Given the description of an element on the screen output the (x, y) to click on. 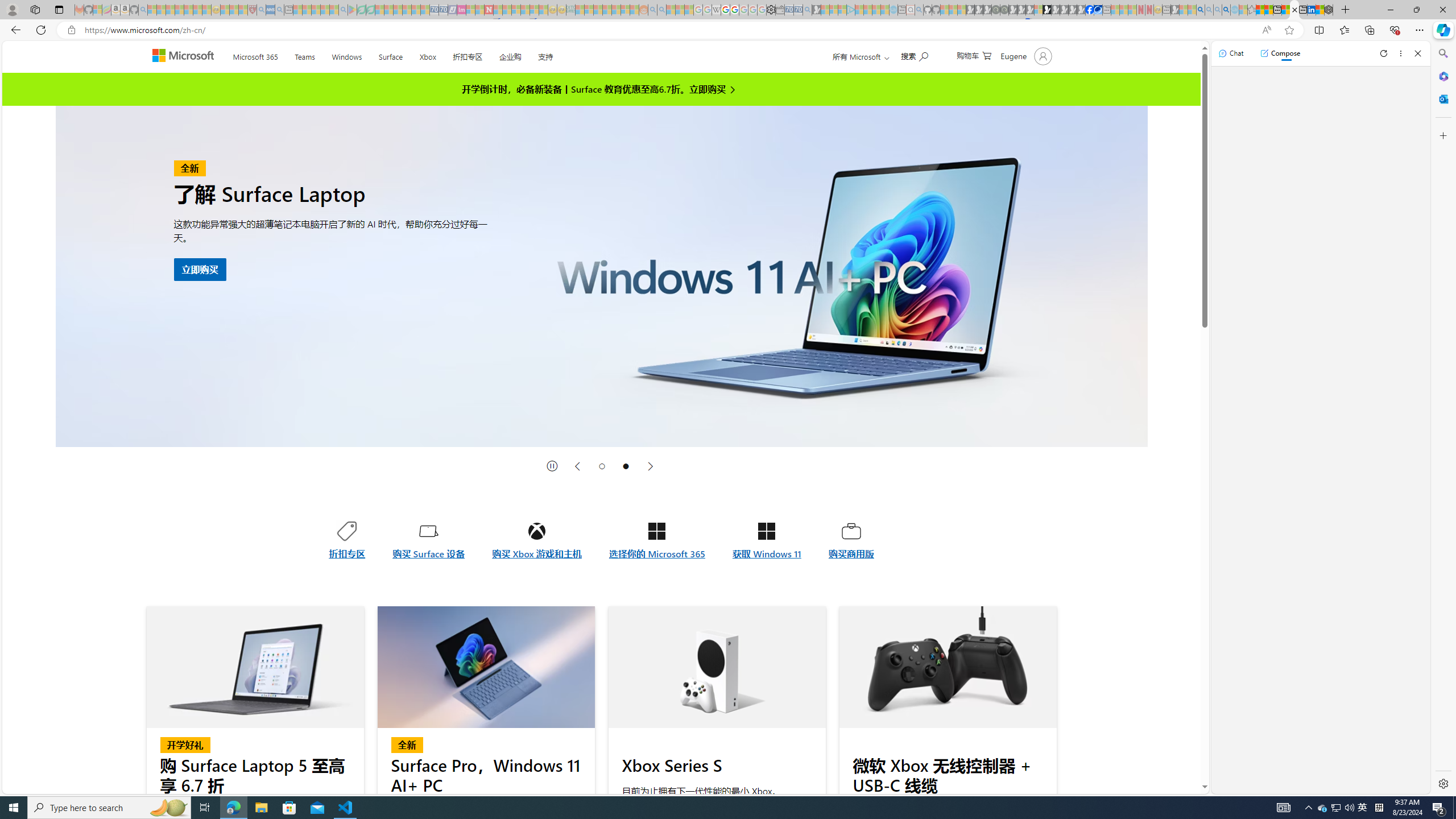
github - Search - Sleeping (919, 9)
Surface (389, 54)
Home | Sky Blue Bikes - Sky Blue Bikes - Sleeping (892, 9)
Cheap Hotels - Save70.com - Sleeping (442, 9)
